Given the description of an element on the screen output the (x, y) to click on. 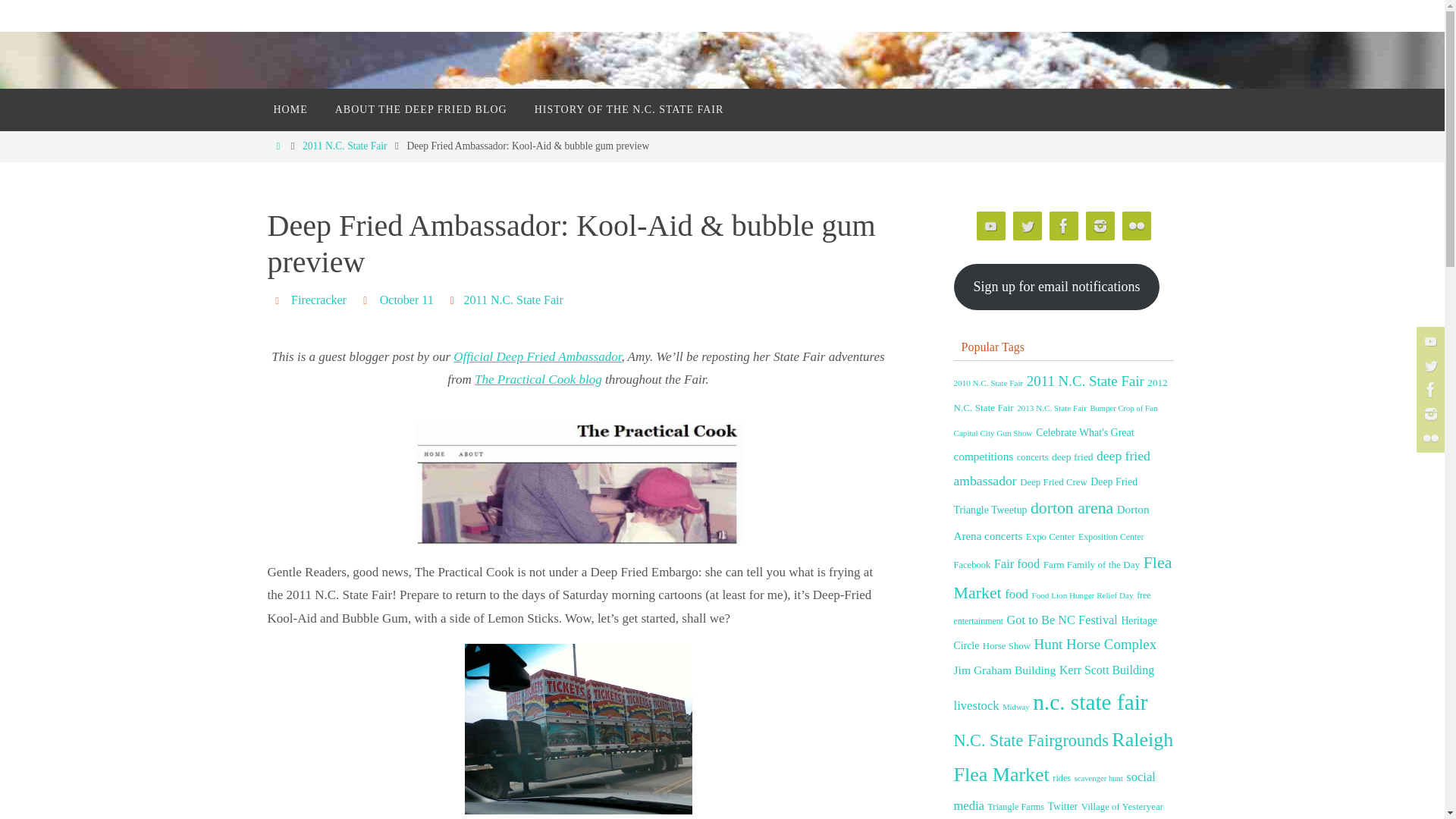
2011 N.C. State Fair (344, 145)
The Practical Cook blog (538, 379)
Sign up for email notifications (1056, 286)
View all posts by Firecracker (318, 300)
HISTORY OF THE N.C. STATE FAIR (629, 109)
2011 N.C. State Fair (512, 300)
Official Deep Fried Ambassador (536, 356)
ABOUT THE DEEP FRIED BLOG (421, 109)
HOME (289, 109)
Home (277, 145)
Date (367, 299)
2010 N.C. State Fair (988, 383)
Firecracker (318, 300)
October 11 (406, 300)
Categories (454, 299)
